Given the description of an element on the screen output the (x, y) to click on. 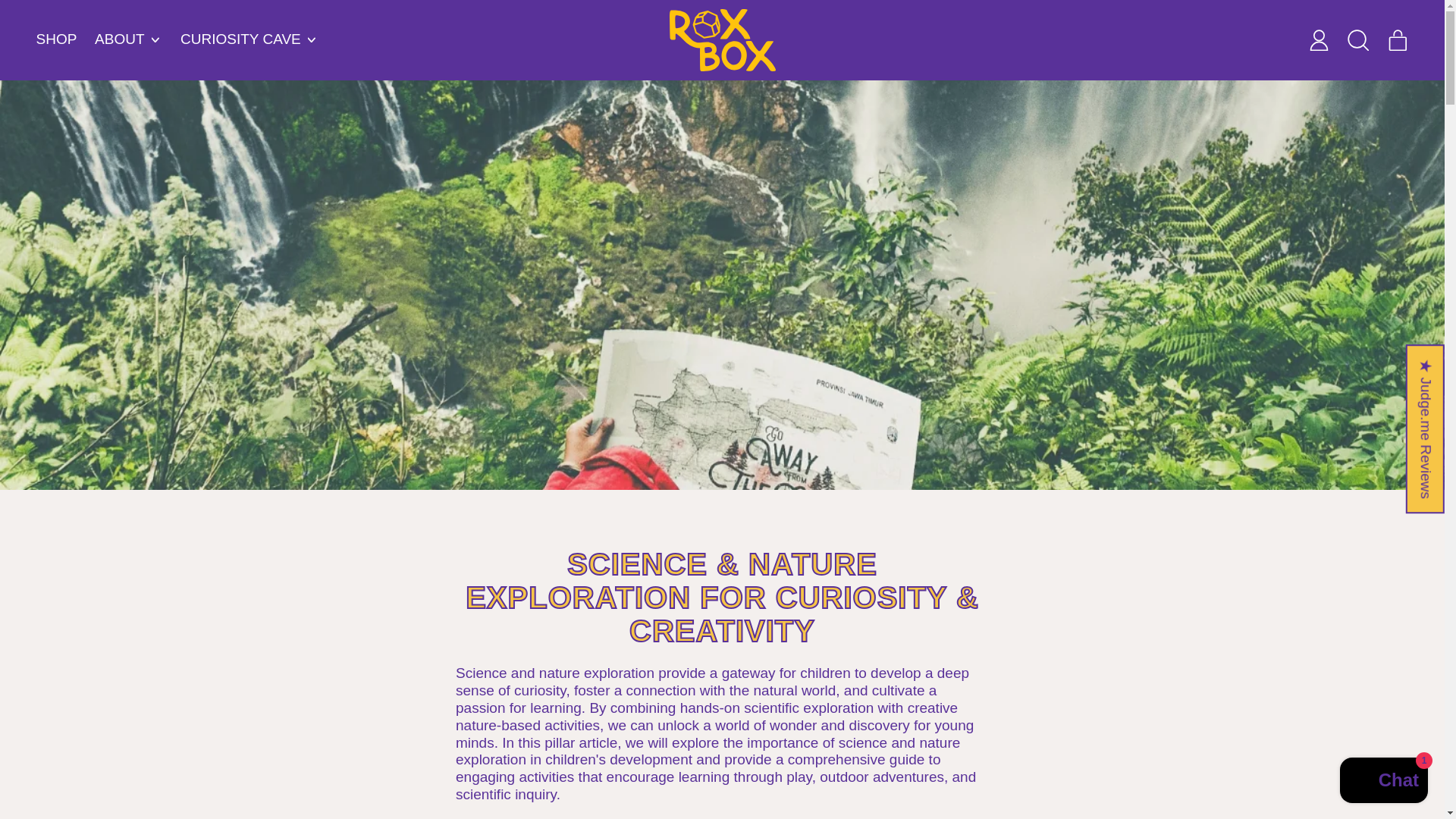
CURIOSITY CAVE (249, 39)
Shopify online store chat (1383, 781)
Search our site (1357, 39)
SHOP (56, 39)
ABOUT (128, 39)
Log in (1318, 39)
